Given the description of an element on the screen output the (x, y) to click on. 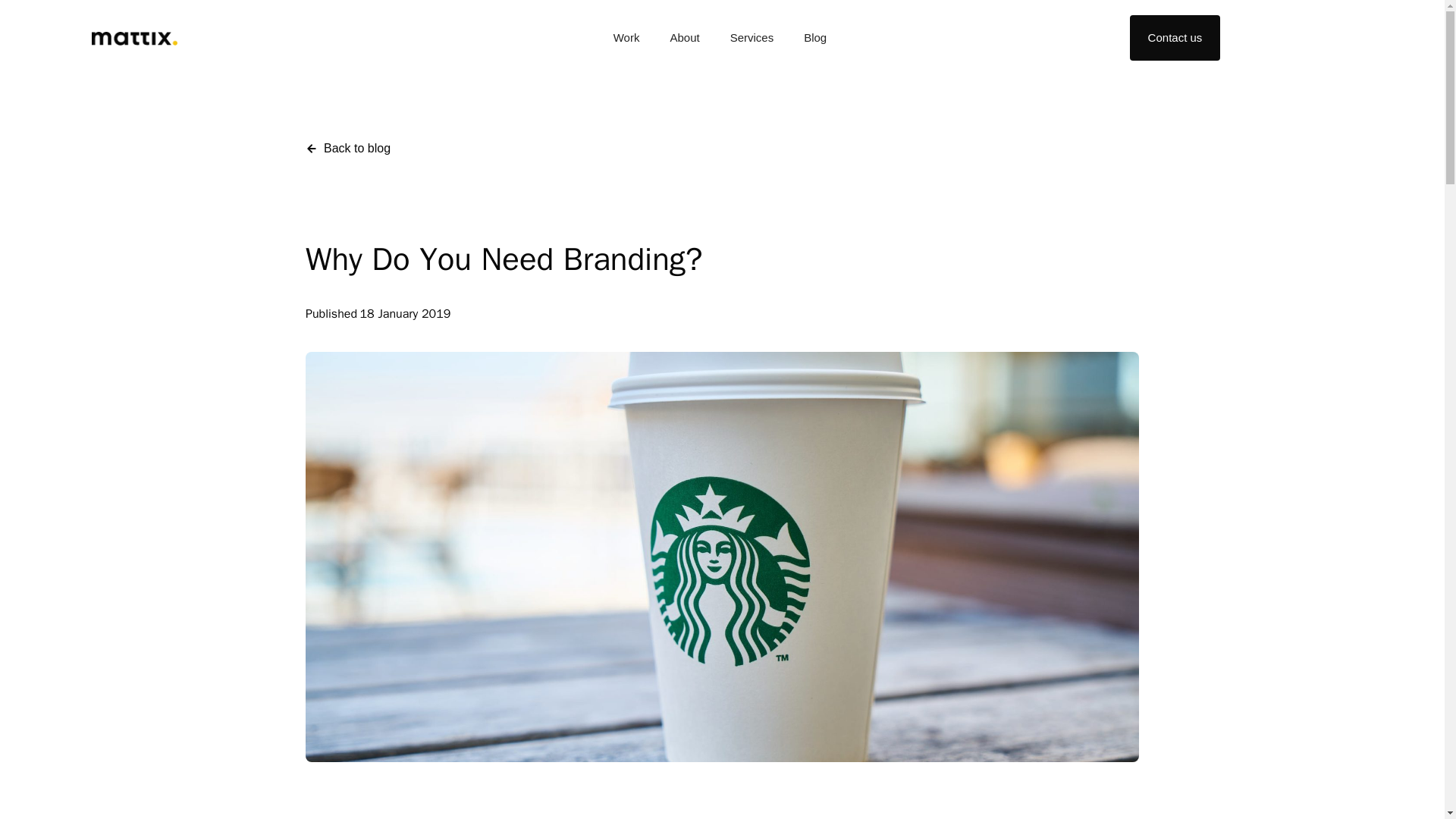
Back to blog (347, 148)
Work (626, 37)
Contact us (1175, 37)
Services (751, 37)
About (683, 37)
Blog (815, 37)
